Given the description of an element on the screen output the (x, y) to click on. 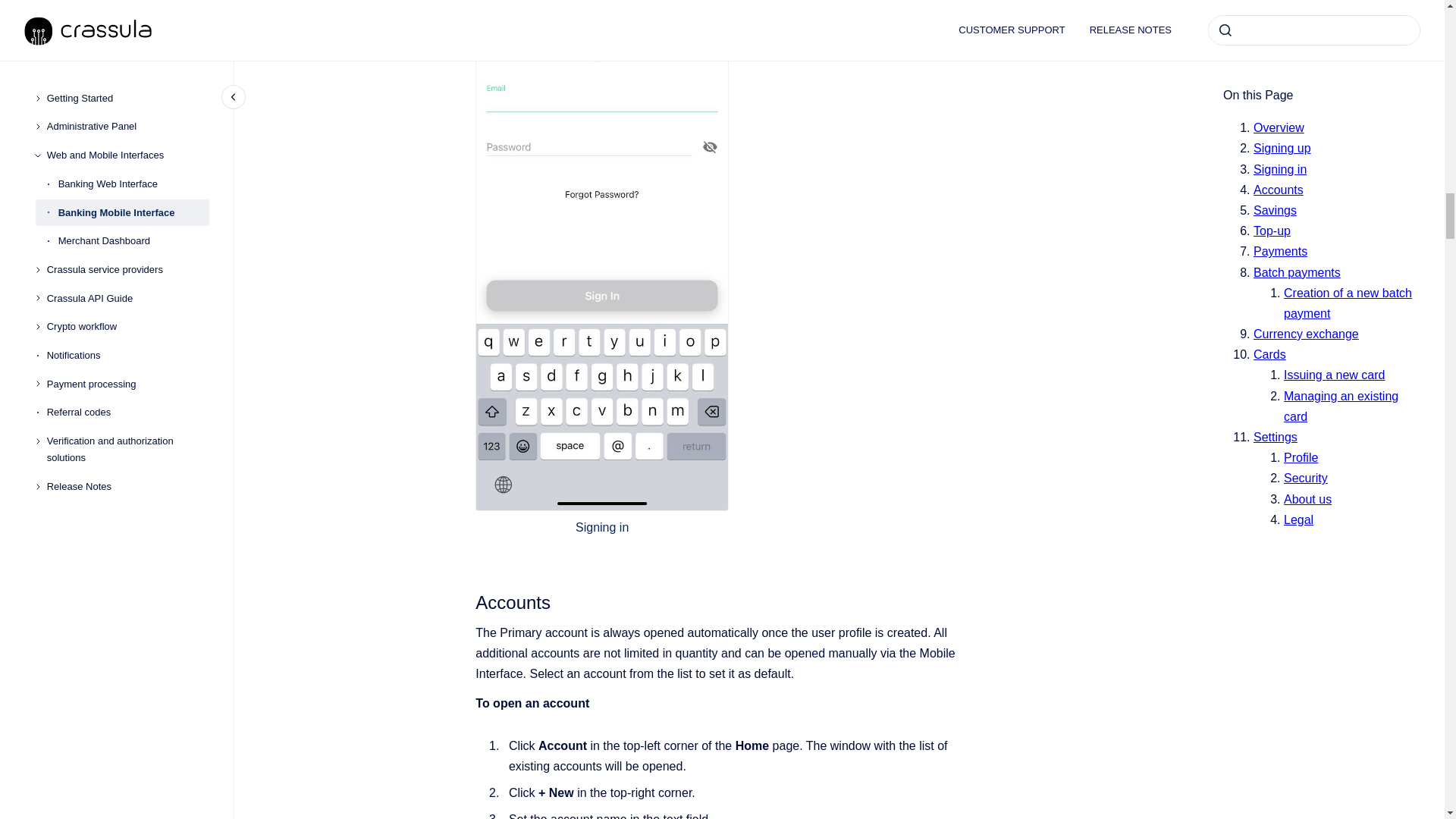
Copy to clipboard (468, 600)
